Given the description of an element on the screen output the (x, y) to click on. 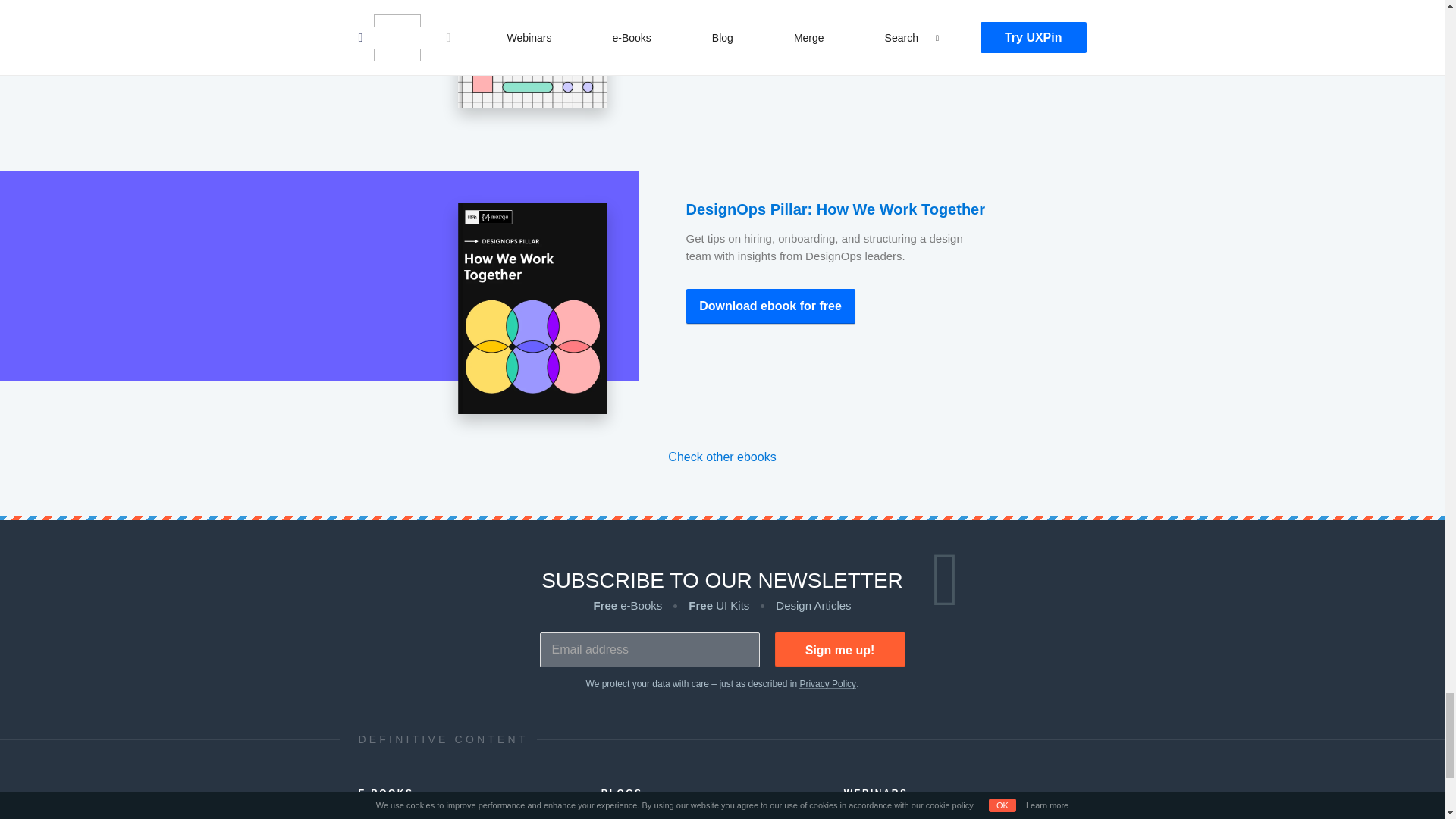
DesignOps Pillar: How We Work Together (835, 208)
Download ebook for free (769, 306)
Download ebook for free (769, 20)
